Given the description of an element on the screen output the (x, y) to click on. 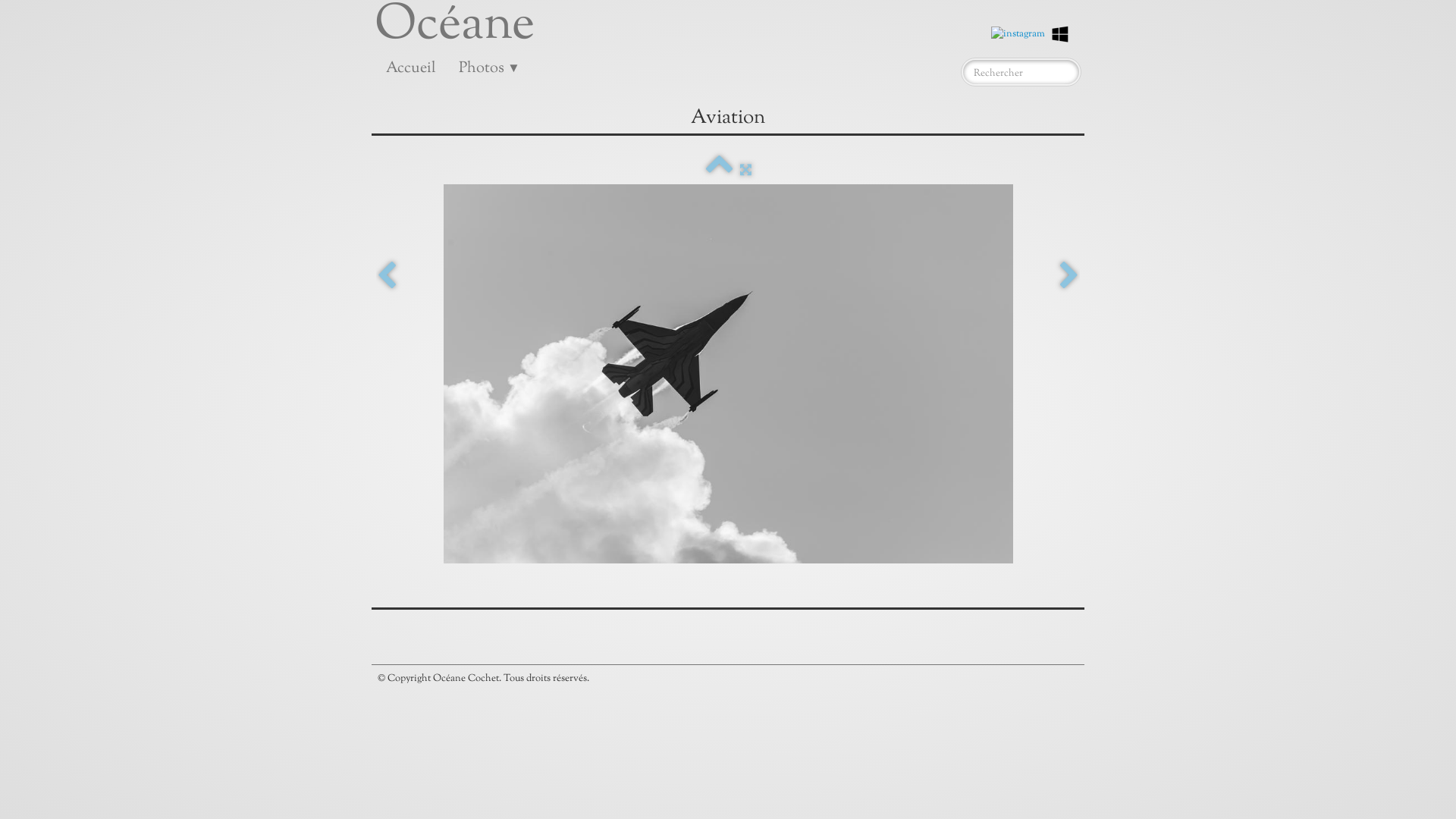
Index Element type: hover (719, 170)
Suivant Element type: hover (1068, 276)
Accueil Element type: text (410, 68)
